Given the description of an element on the screen output the (x, y) to click on. 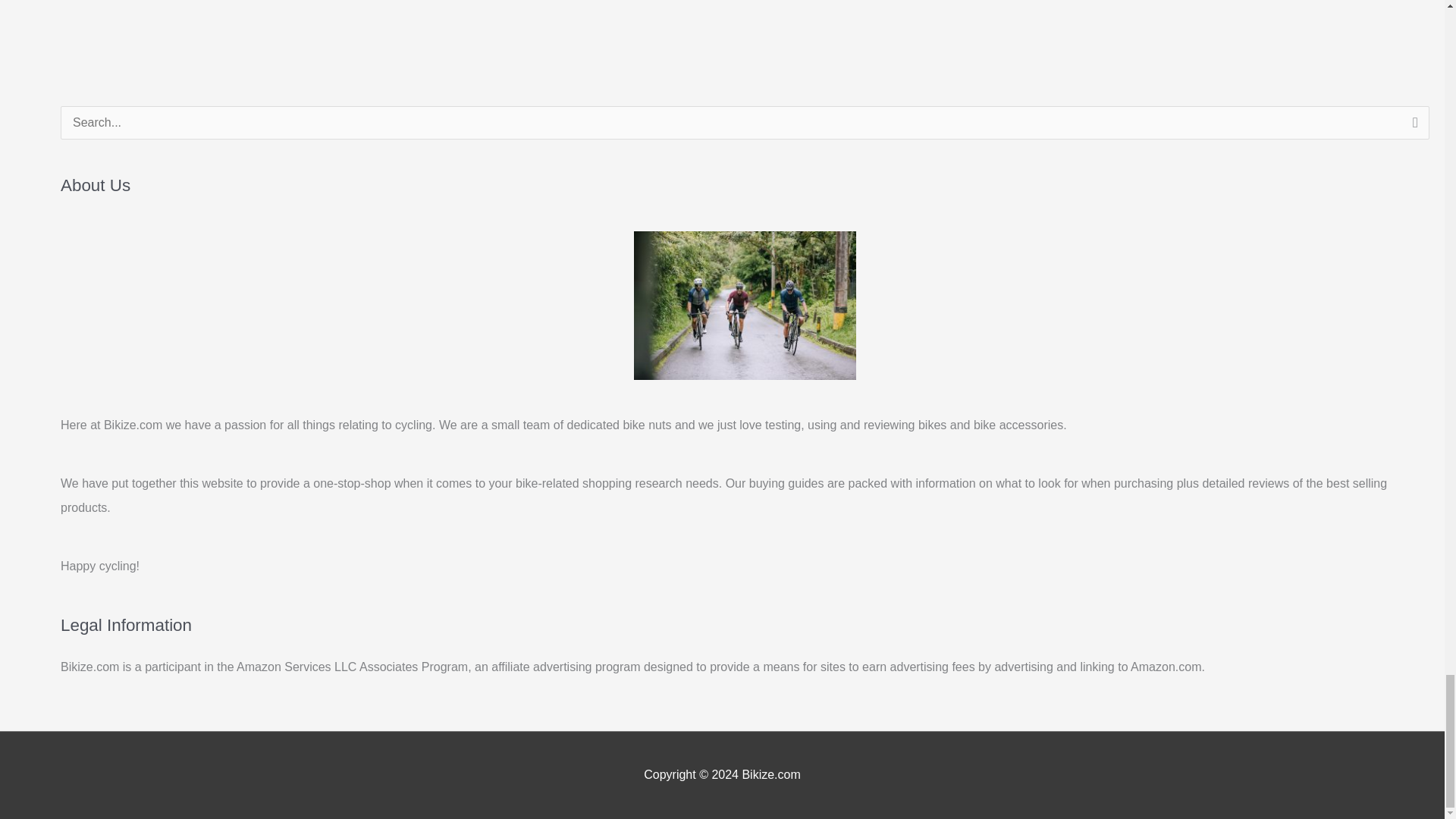
5 Reasons Why Bicycle Lights Can Be Pricey (1393, 3)
Mastering the Most Difficult BMX Bike Tricks (61, 3)
